Given the description of an element on the screen output the (x, y) to click on. 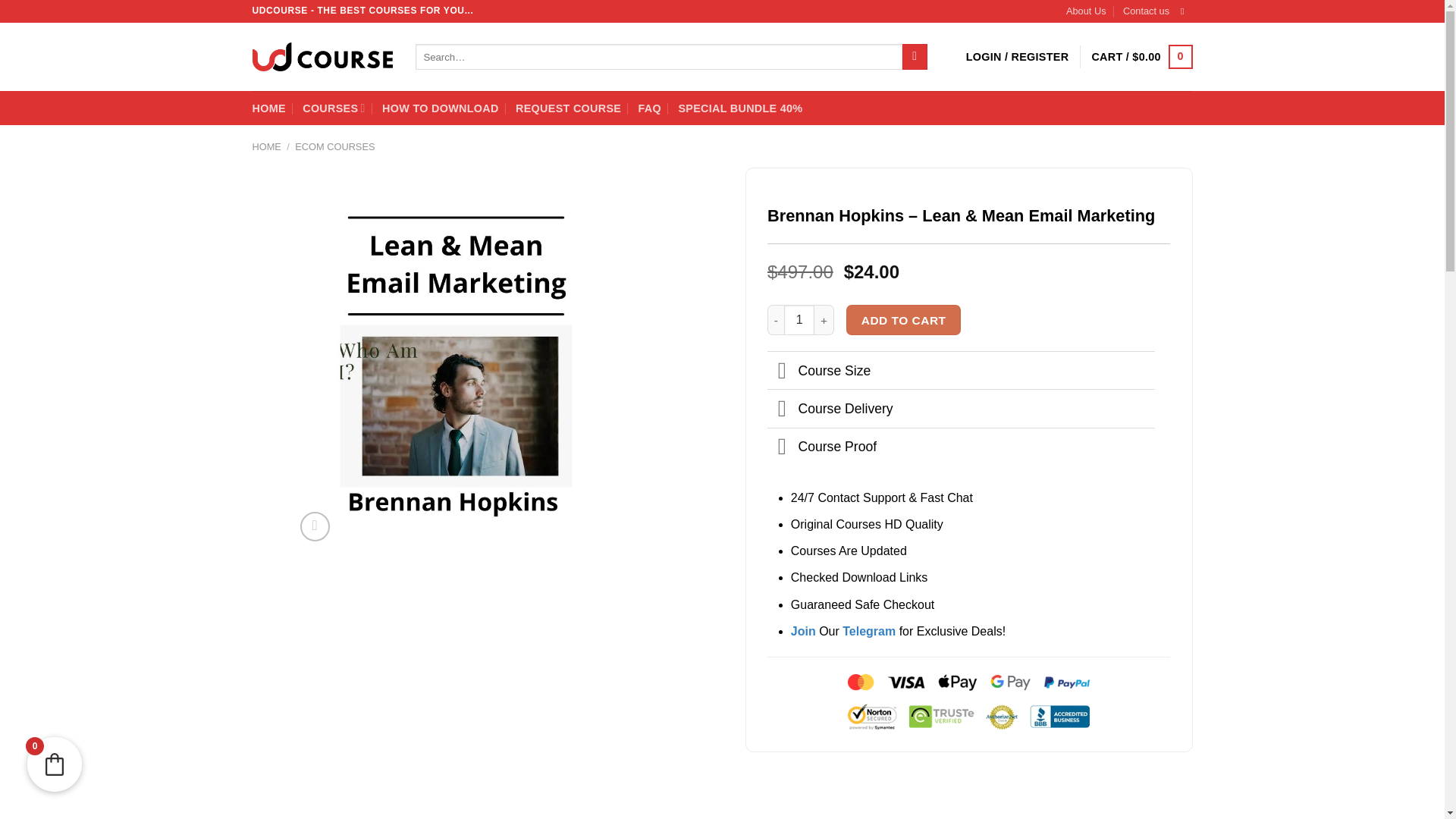
ECOM COURSES (334, 146)
Zoom (314, 526)
Cart (1141, 56)
About Us (1085, 11)
Search (914, 56)
COURSES (333, 107)
1 (798, 319)
Contact us (1145, 11)
Login (1017, 56)
HOW TO DOWNLOAD (440, 107)
